Given the description of an element on the screen output the (x, y) to click on. 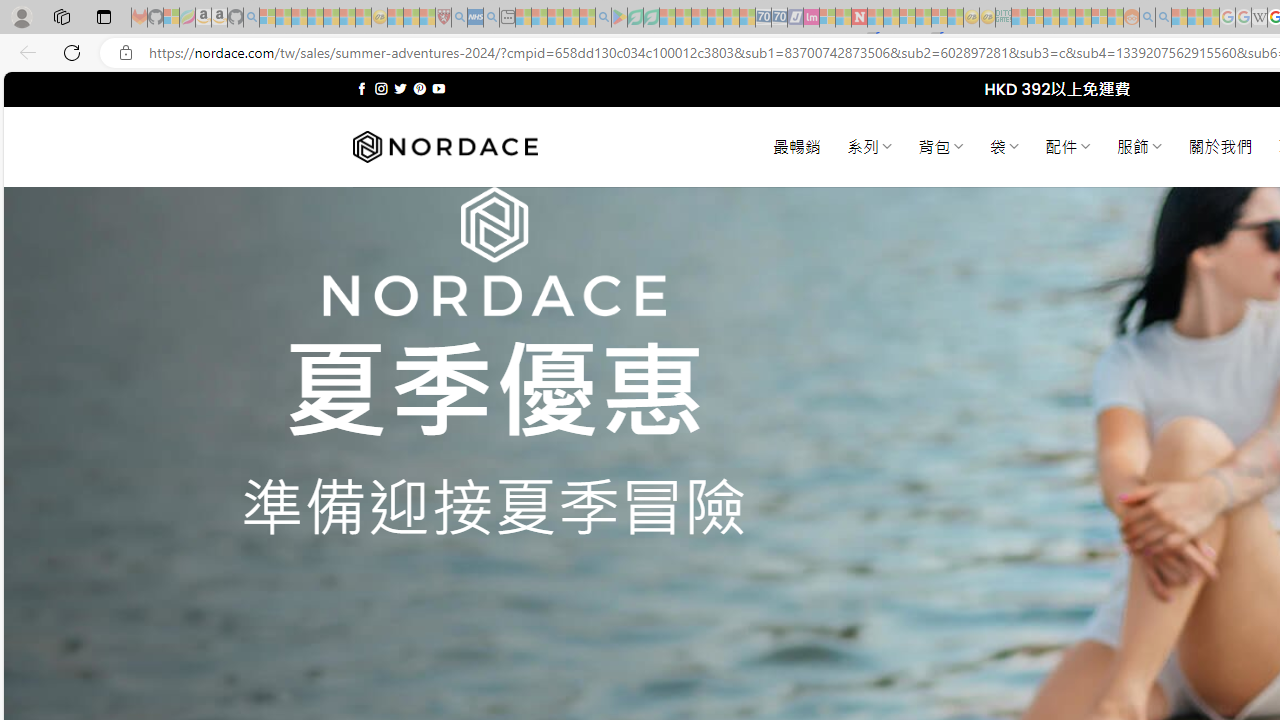
utah sues federal government - Search - Sleeping (491, 17)
Pets - MSN - Sleeping (571, 17)
